Given the description of an element on the screen output the (x, y) to click on. 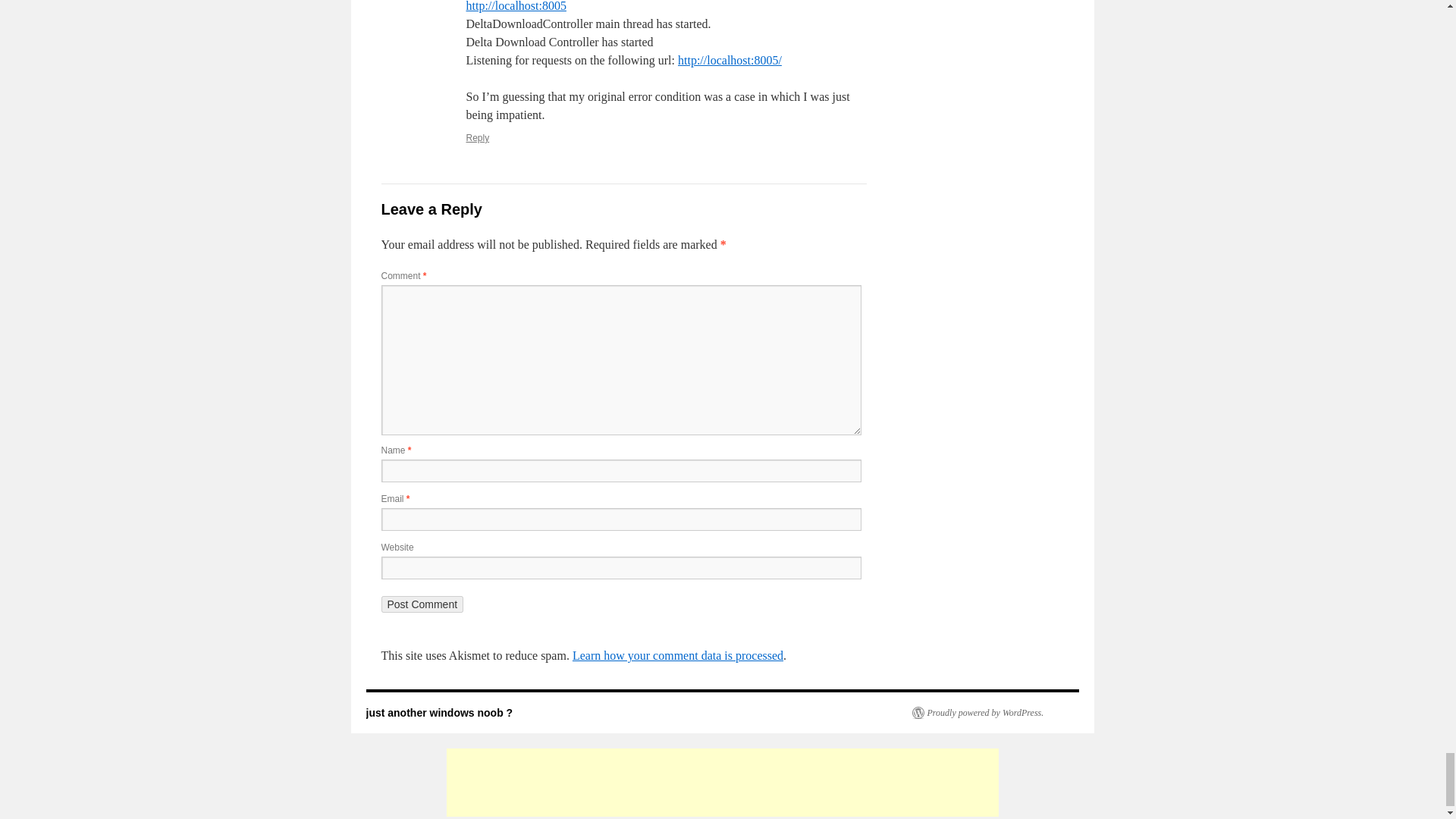
Post Comment (421, 604)
